Given the description of an element on the screen output the (x, y) to click on. 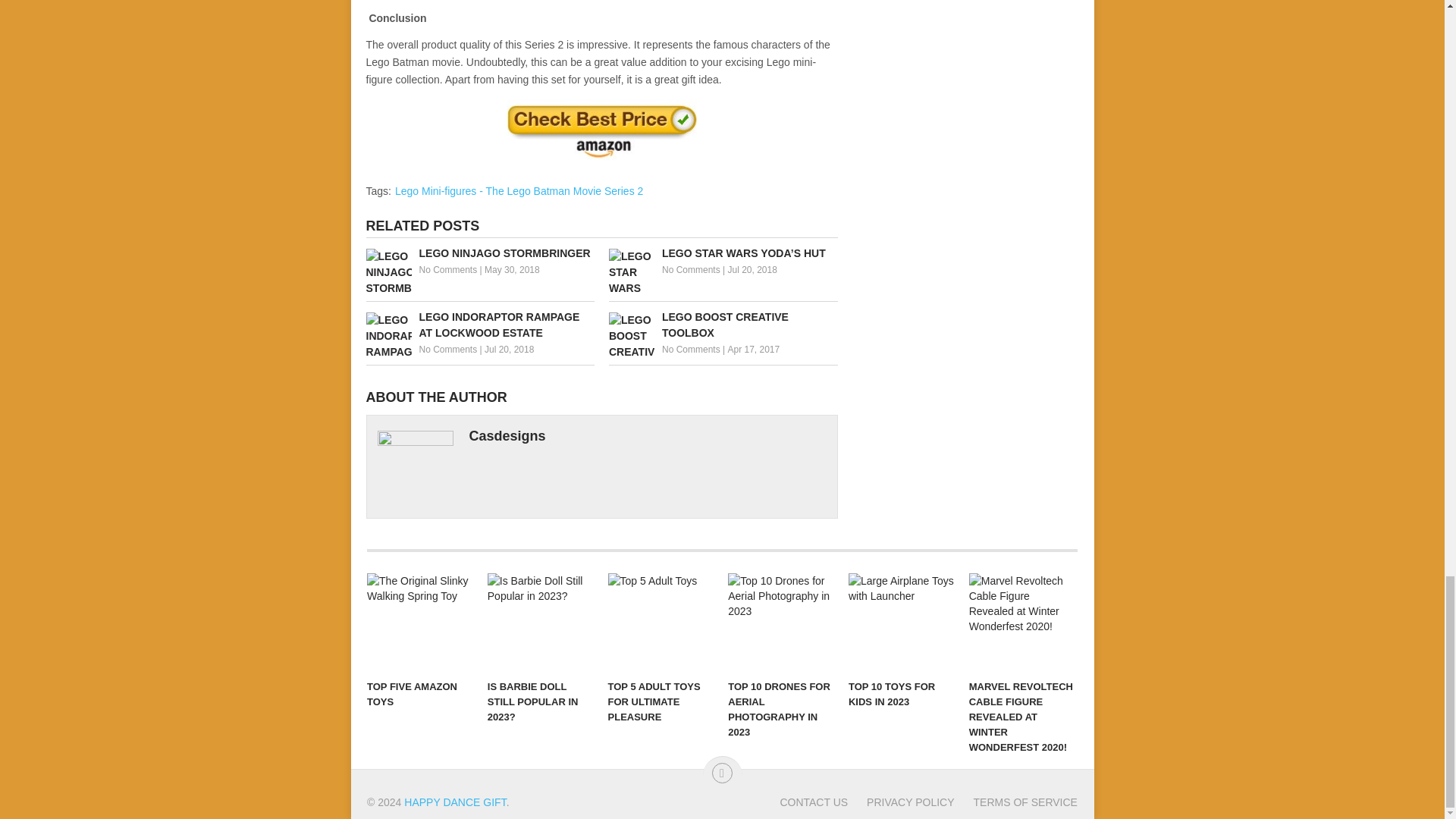
LEGO NINJAGO STORMBRINGER (479, 253)
No Comments (691, 348)
Lego Boost Creative Toolbox (723, 325)
LEGO BOOST CREATIVE TOOLBOX (723, 325)
Lego Indoraptor Rampage at Lockwood Estate (479, 325)
No Comments (448, 348)
No Comments (448, 269)
Lego Mini-figures - The Lego Batman Movie Series 2 (518, 191)
LEGO INDORAPTOR RAMPAGE AT LOCKWOOD ESTATE (479, 325)
No Comments (691, 269)
